Given the description of an element on the screen output the (x, y) to click on. 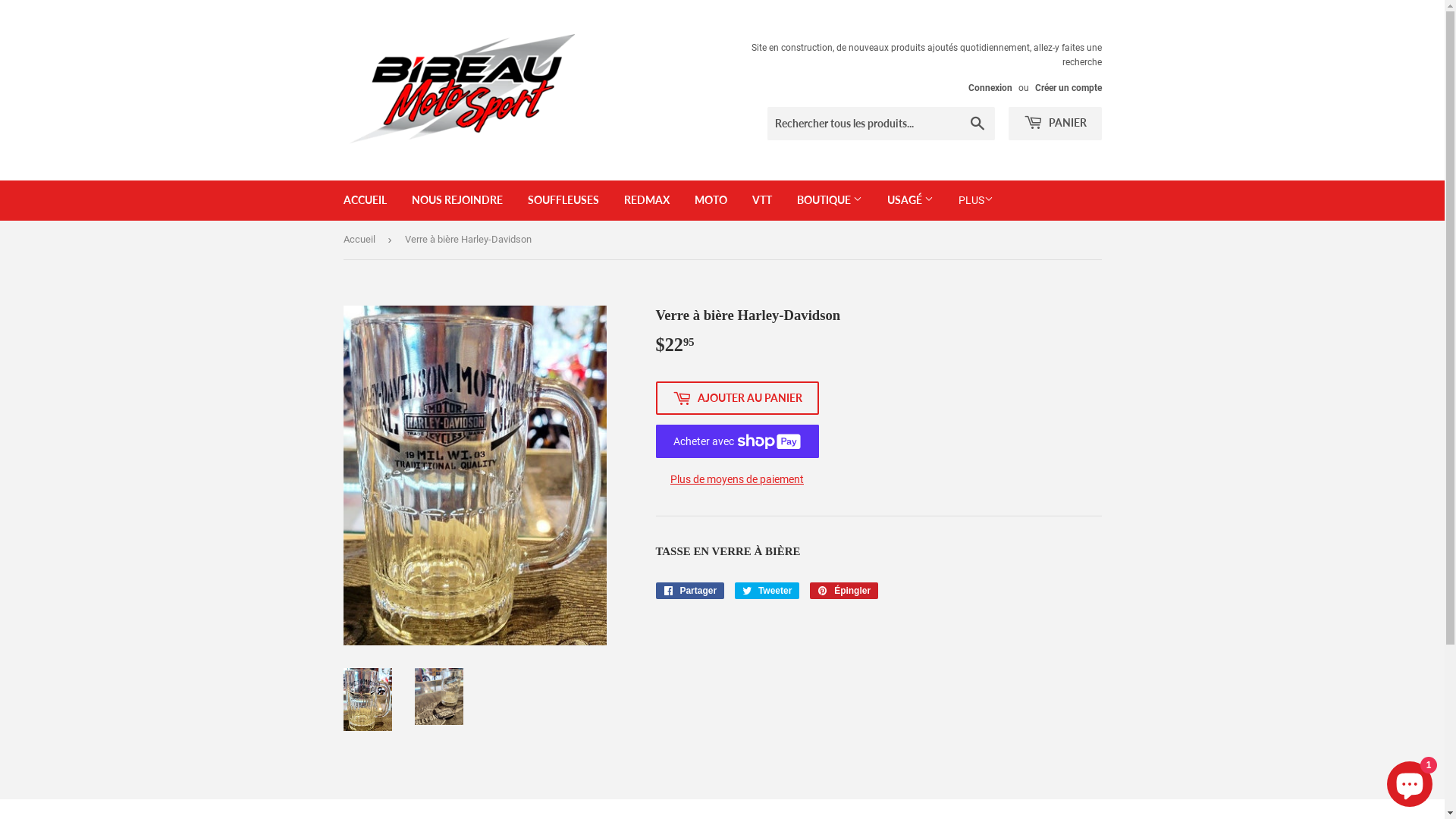
NOUS REJOINDRE Element type: text (457, 199)
Plus de moyens de paiement Element type: text (736, 479)
BOUTIQUE Element type: text (829, 199)
Partager
Partager sur Facebook Element type: text (689, 590)
REDMAX Element type: text (646, 199)
VTT Element type: text (761, 199)
Chercher Element type: text (977, 124)
Tweeter
Tweeter sur Twitter Element type: text (766, 590)
PANIER Element type: text (1054, 123)
MOTO Element type: text (709, 199)
PLUS Element type: text (975, 199)
AJOUTER AU PANIER Element type: text (736, 397)
Accueil Element type: text (360, 239)
ACCUEIL Element type: text (365, 199)
SOUFFLEUSES Element type: text (562, 199)
Connexion Element type: text (989, 87)
Chat de la boutique en ligne Shopify Element type: hover (1409, 780)
